Given the description of an element on the screen output the (x, y) to click on. 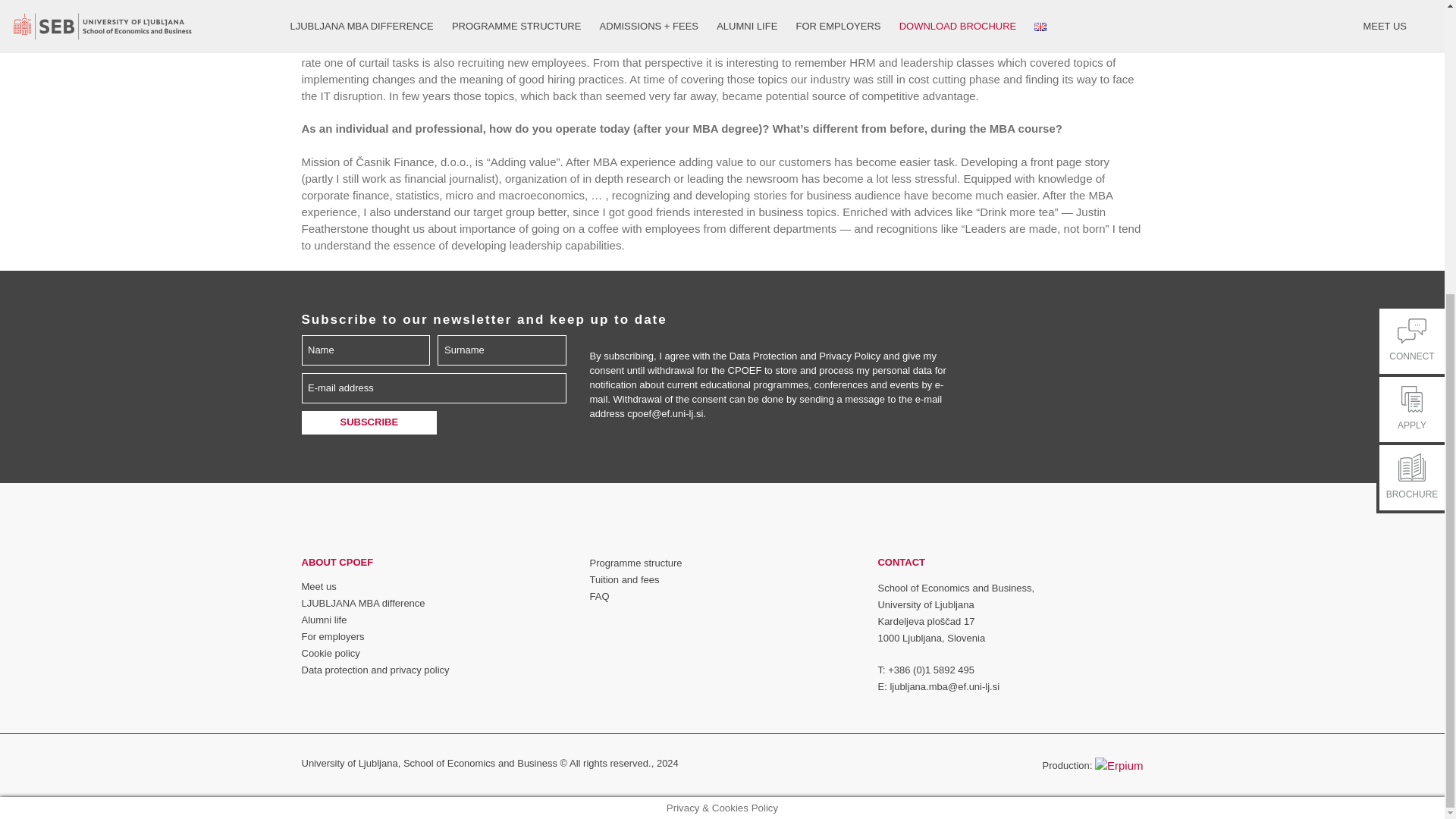
For employers (333, 636)
Meet us (318, 586)
icn-brochure (1411, 16)
FAQ (598, 595)
SUBSCRIBE (369, 422)
Tuition and fees (624, 579)
Data protection and privacy policy (375, 669)
Alumni life (324, 619)
LJUBLJANA MBA difference (363, 603)
SUBSCRIBE (369, 422)
Data Protection and Privacy Policy (804, 355)
Programme structure (635, 562)
Cookie policy (330, 653)
